Given the description of an element on the screen output the (x, y) to click on. 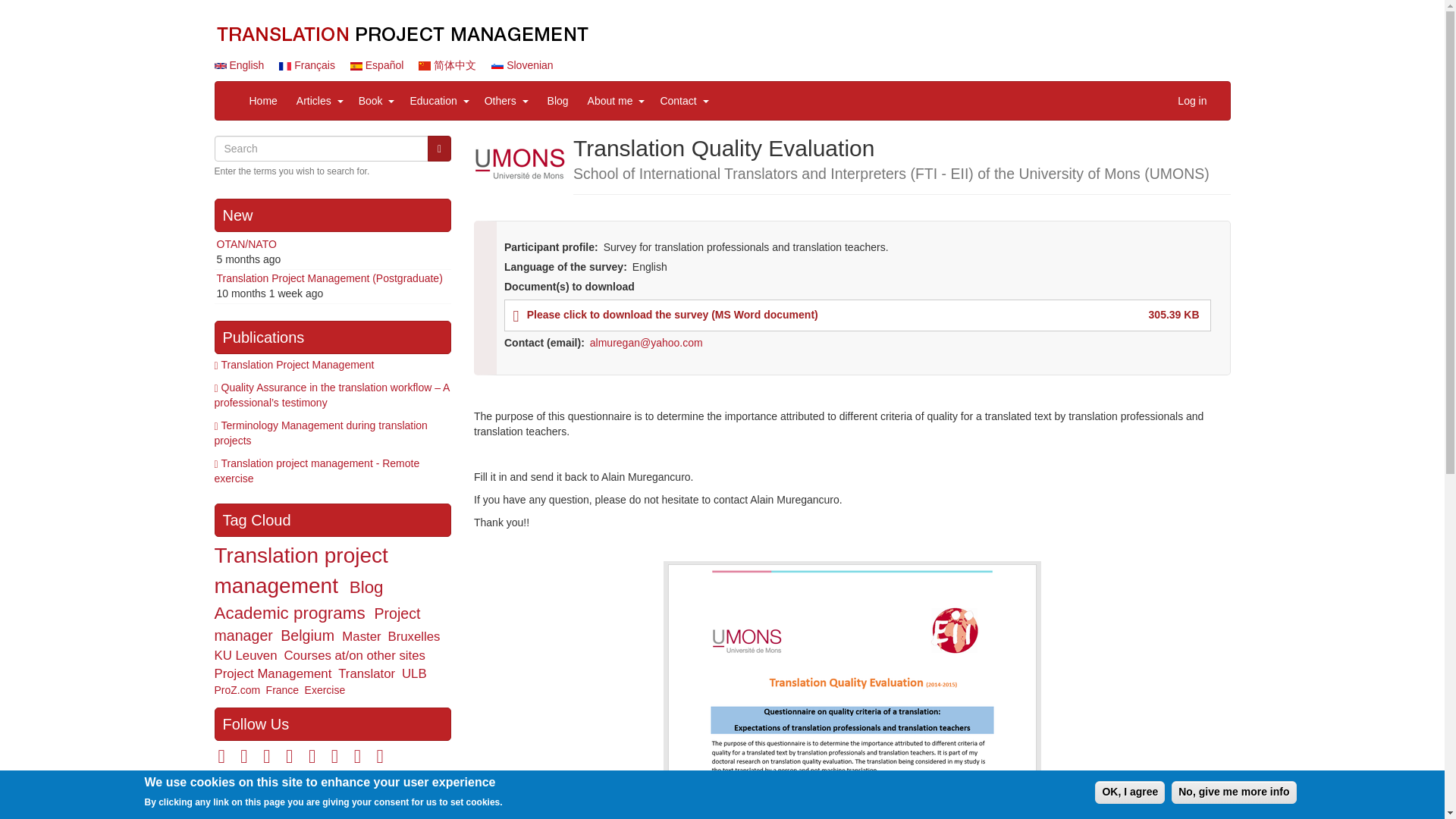
Home (263, 100)
Blog (557, 100)
Open file in new window (672, 314)
About me (606, 100)
Others (496, 100)
English (219, 65)
English (238, 64)
Articles (309, 100)
Slovenian (497, 65)
